Given the description of an element on the screen output the (x, y) to click on. 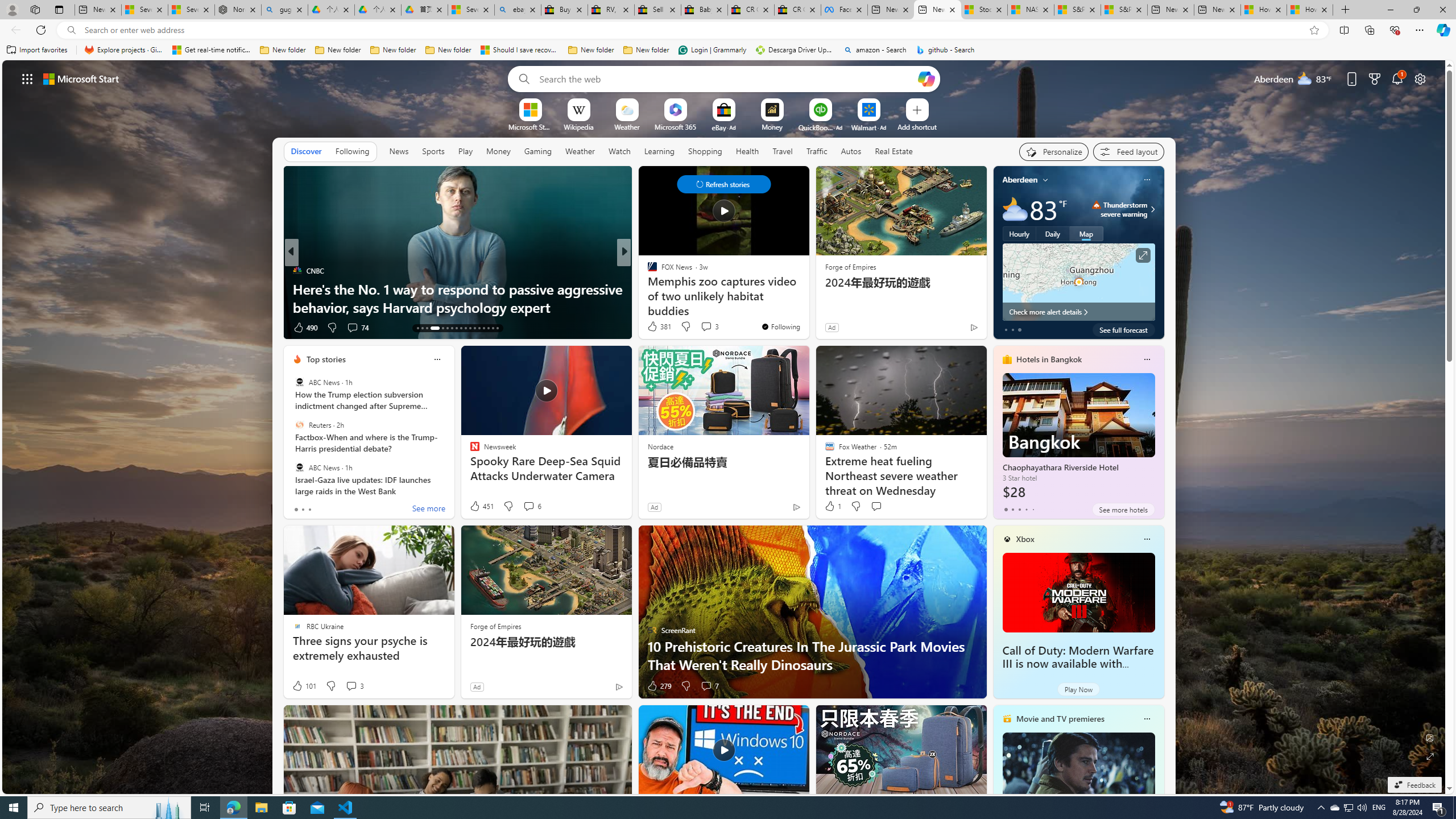
tab-4 (1032, 509)
You're following FOX News (780, 326)
View comments 2 Comment (702, 327)
AutomationID: tab-26 (483, 328)
AutomationID: tab-17 (439, 328)
4-year-old accidentally shatters Bronze Age jar at museum (807, 298)
Class: weather-arrow-glyph (1152, 208)
View comments 10 Comment (698, 327)
